Given the description of an element on the screen output the (x, y) to click on. 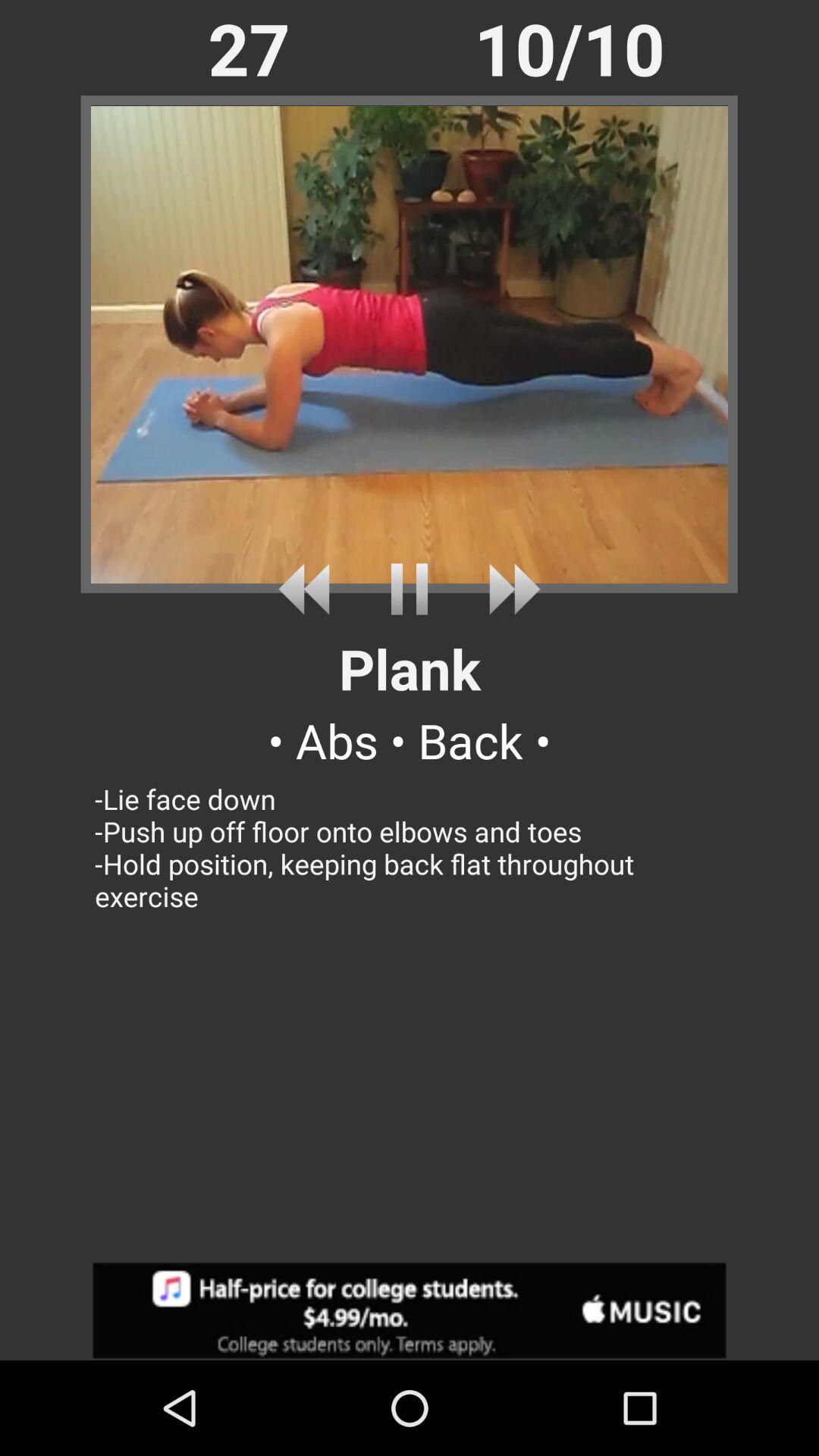
go back (309, 589)
